Given the description of an element on the screen output the (x, y) to click on. 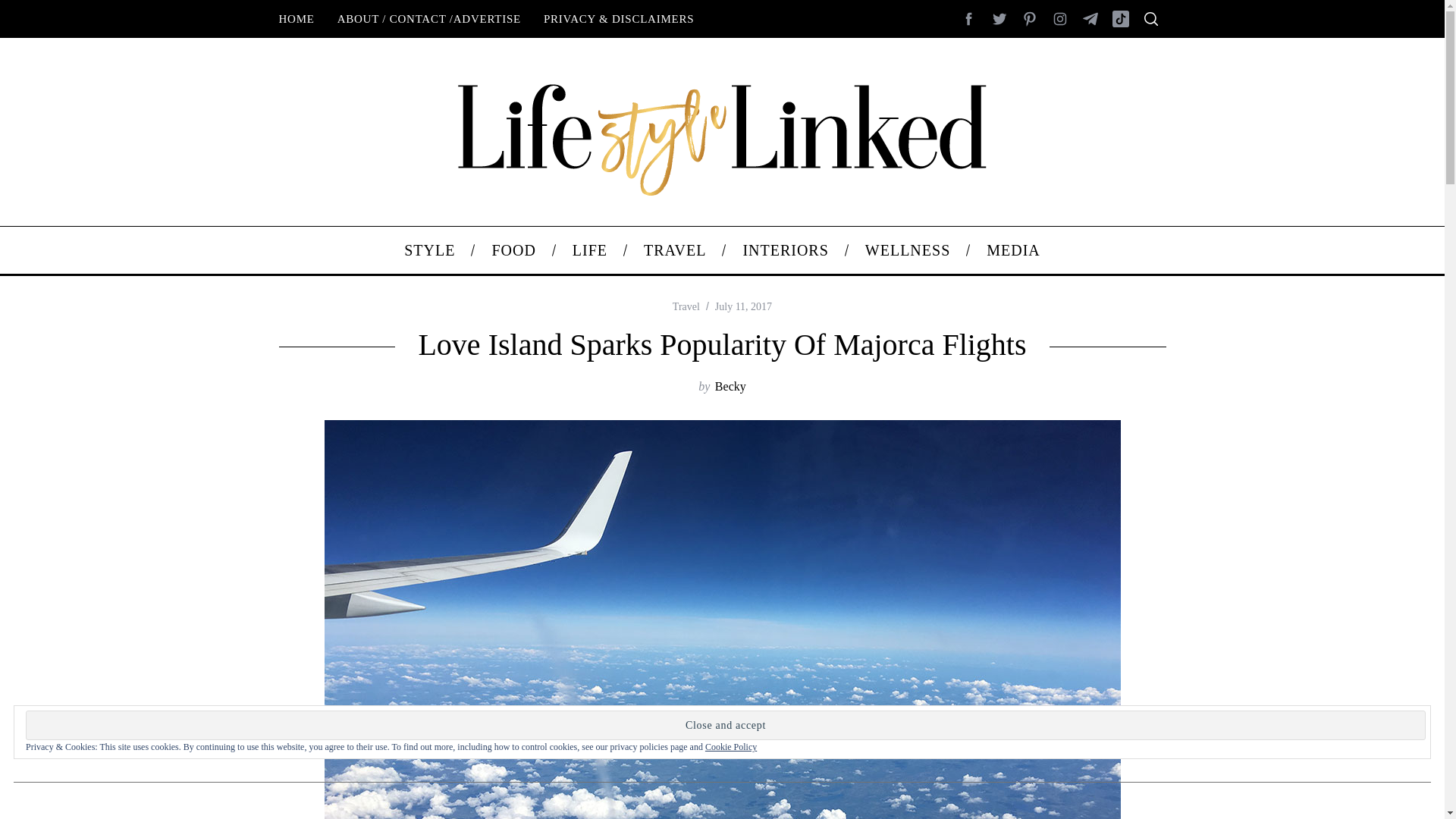
HOME (295, 18)
Becky (729, 386)
TRAVEL (674, 249)
Travel (686, 306)
WELLNESS (907, 249)
LIFE (590, 249)
Close and accept (725, 725)
STYLE (429, 249)
INTERIORS (784, 249)
FOOD (513, 249)
